Given the description of an element on the screen output the (x, y) to click on. 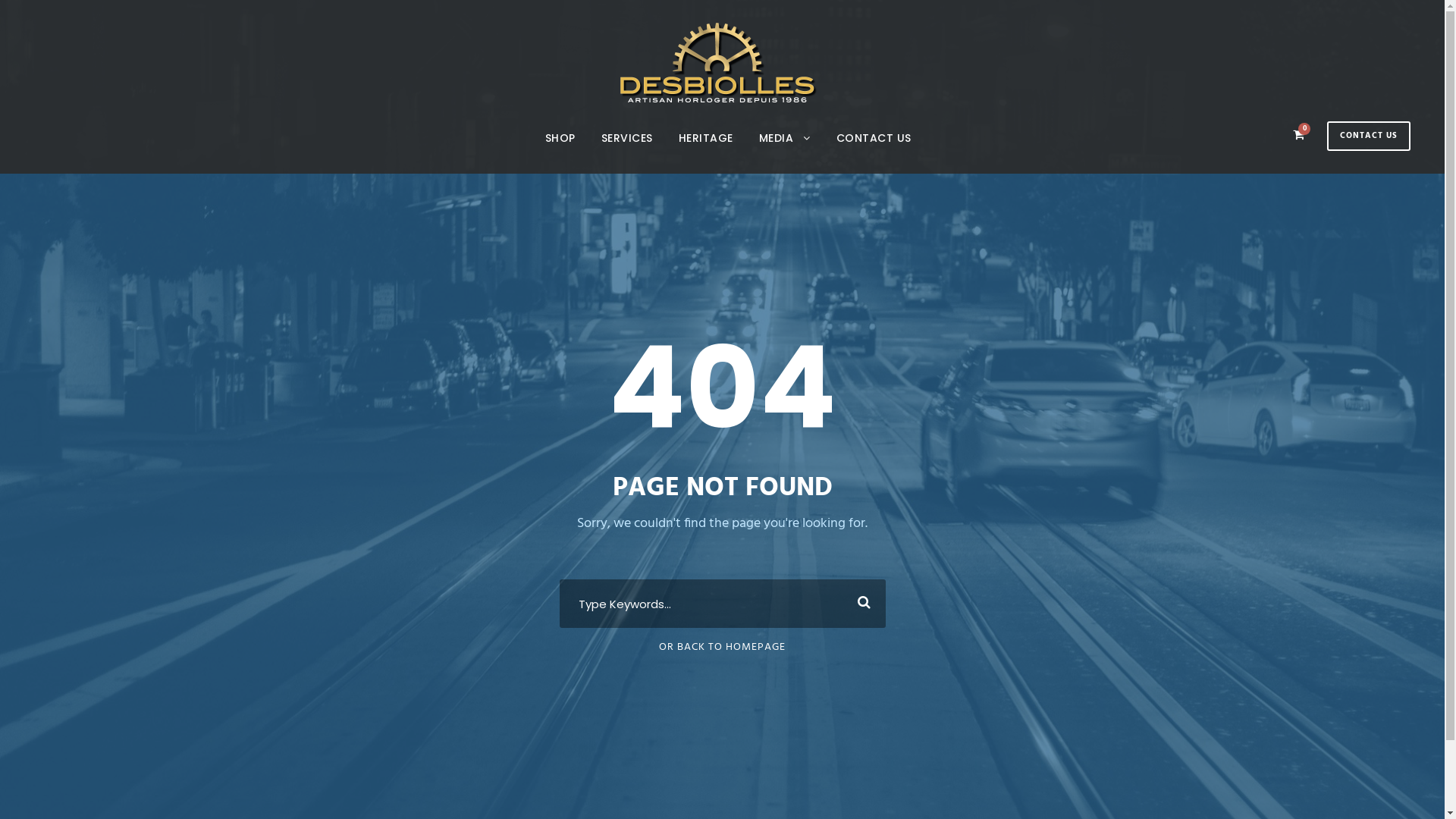
HERITAGE Element type: text (704, 151)
OR BACK TO HOMEPAGE Element type: text (721, 646)
CONTACT US Element type: text (872, 151)
SHOP Element type: text (559, 151)
logo-desbiolles-web Element type: hover (718, 62)
CONTACT US Element type: text (1368, 135)
Search Element type: text (860, 603)
MEDIA Element type: text (783, 151)
SERVICES Element type: text (626, 151)
